Given the description of an element on the screen output the (x, y) to click on. 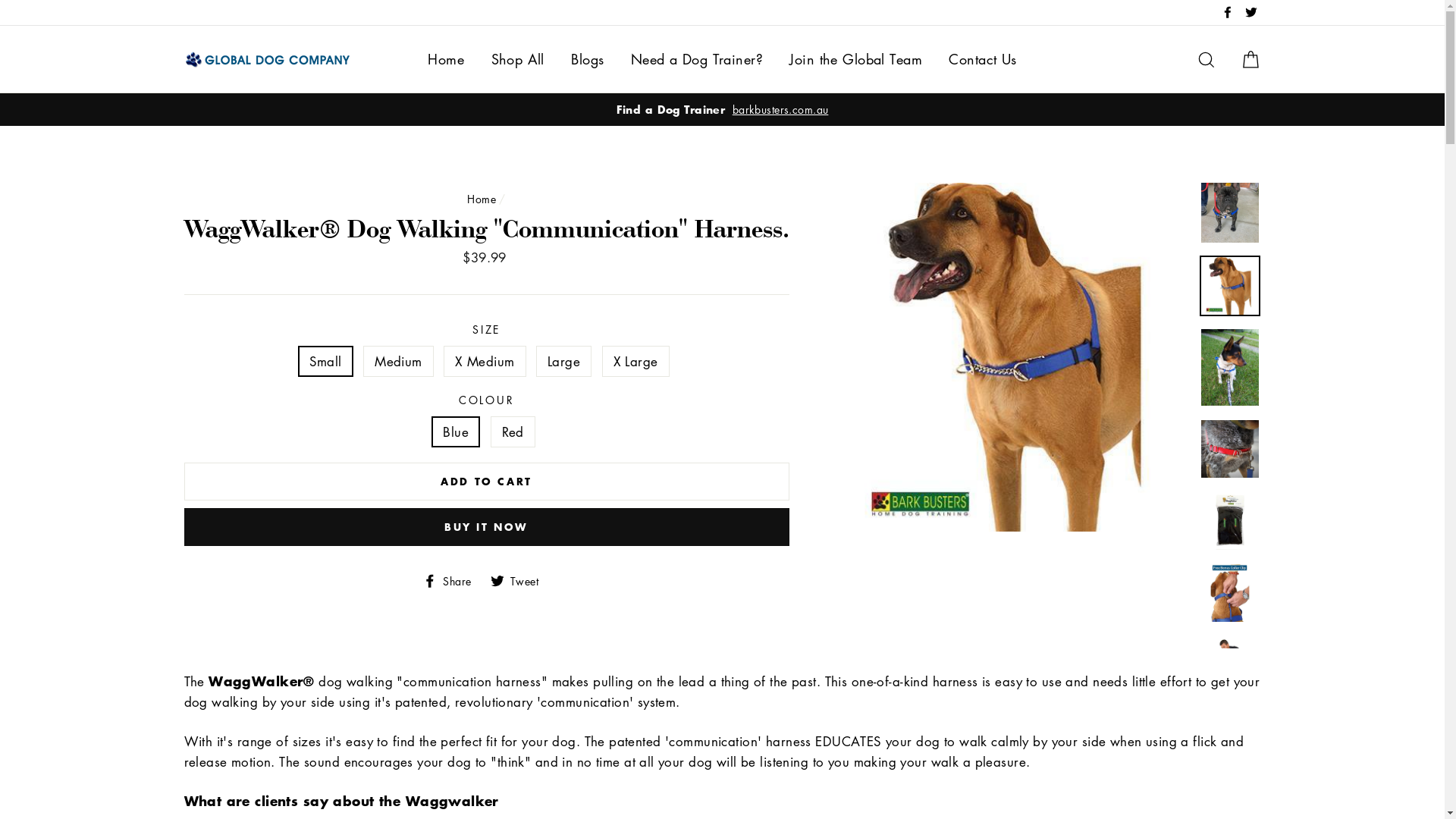
BUY IT NOW Element type: text (485, 527)
Skip to content Element type: text (0, 0)
Home Element type: text (445, 58)
Join the Global Team Element type: text (855, 58)
Search Element type: text (1206, 58)
Home Element type: text (481, 198)
Shop All Element type: text (517, 58)
Contact Us Element type: text (982, 58)
Facebook Element type: text (1227, 12)
Cart Element type: text (1249, 58)
Share
Share on Facebook Element type: text (453, 579)
Blogs Element type: text (587, 58)
Twitter Element type: text (1250, 12)
ADD TO CART Element type: text (485, 481)
Need a Dog Trainer? Element type: text (696, 58)
Tweet
Tweet on Twitter Element type: text (520, 579)
